Given the description of an element on the screen output the (x, y) to click on. 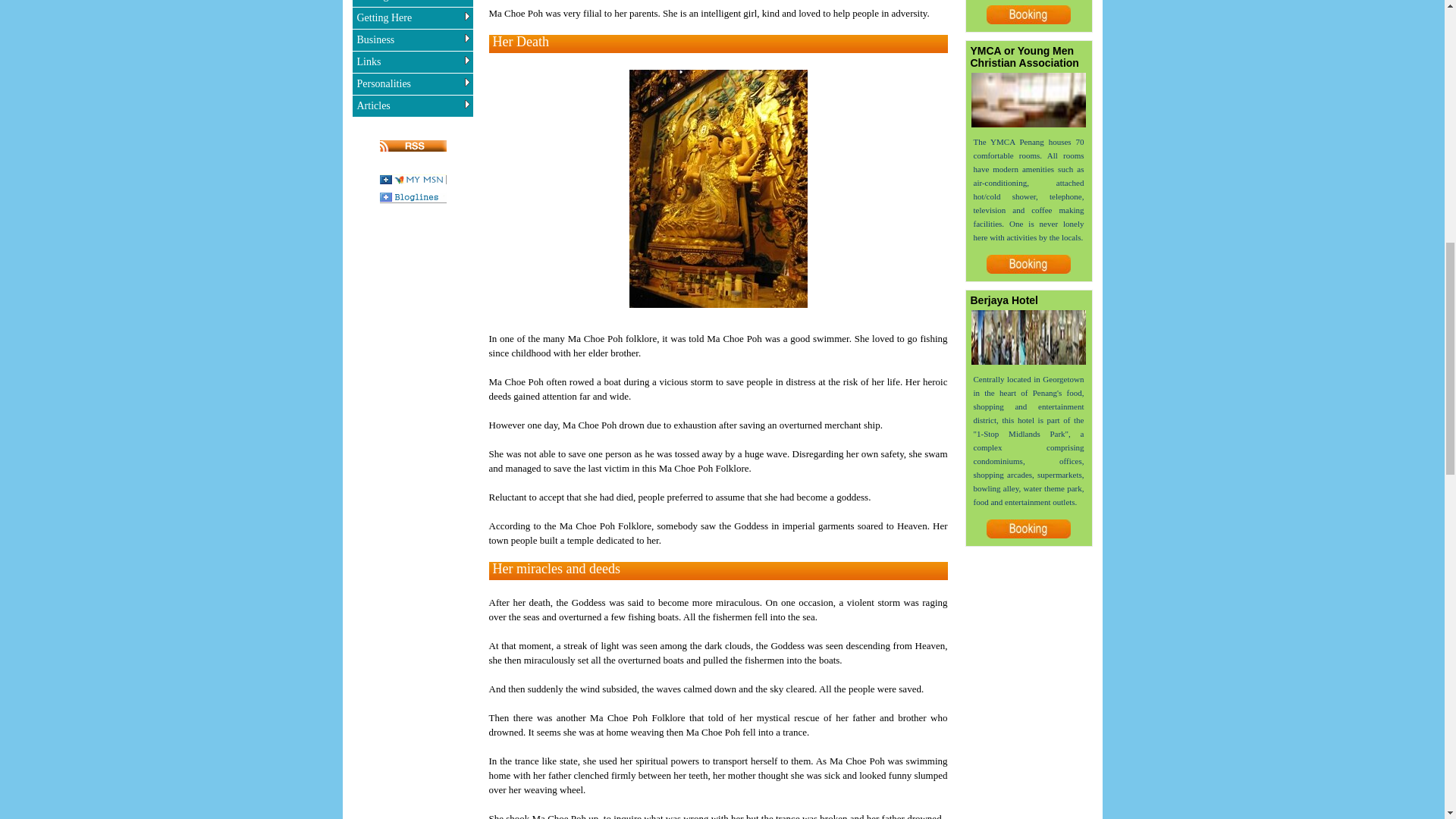
Seafarer Patron Saint Ma Choe Poh in Raja Uda Temple (718, 188)
